Given the description of an element on the screen output the (x, y) to click on. 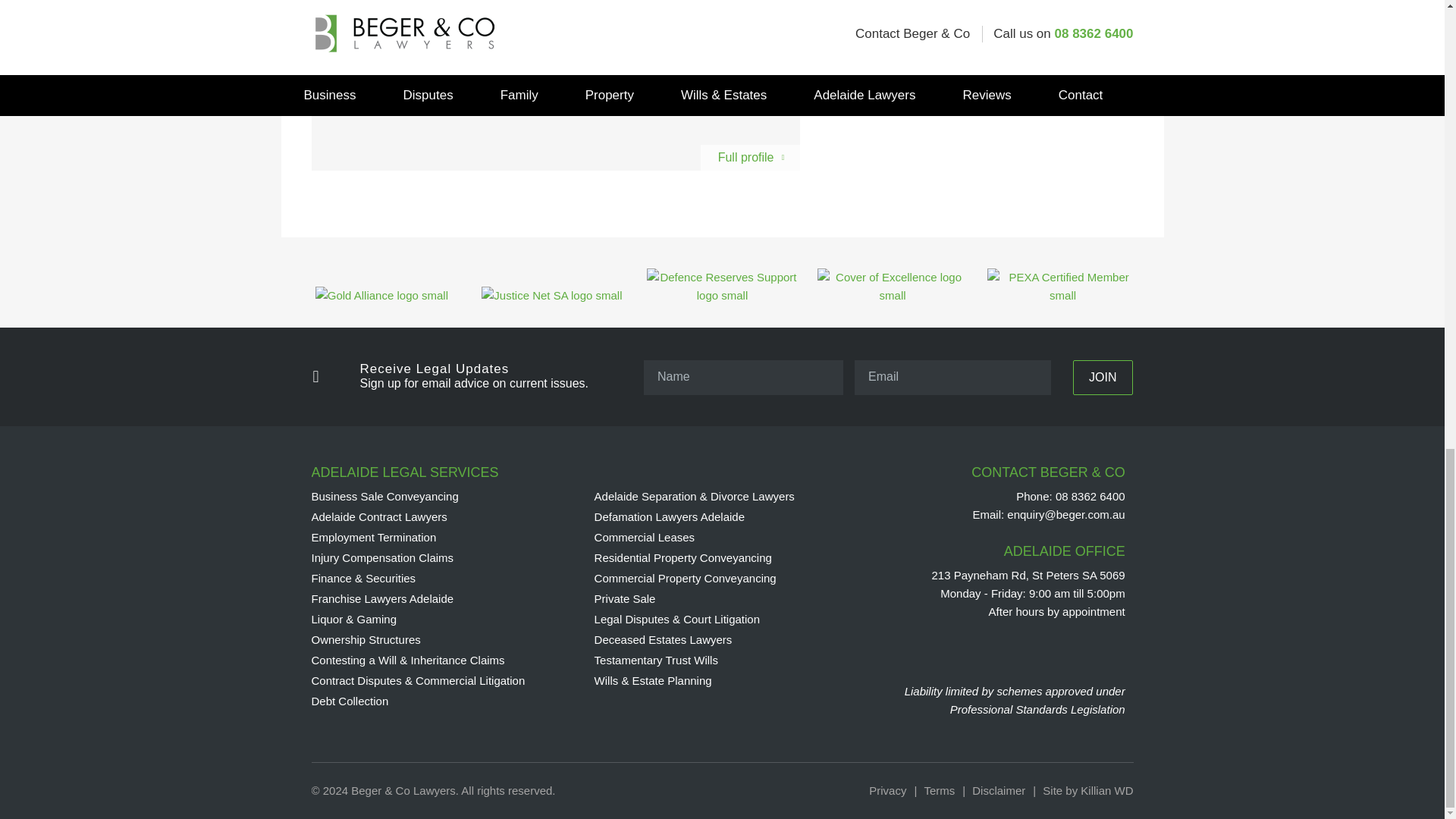
JOIN (1102, 377)
